Given the description of an element on the screen output the (x, y) to click on. 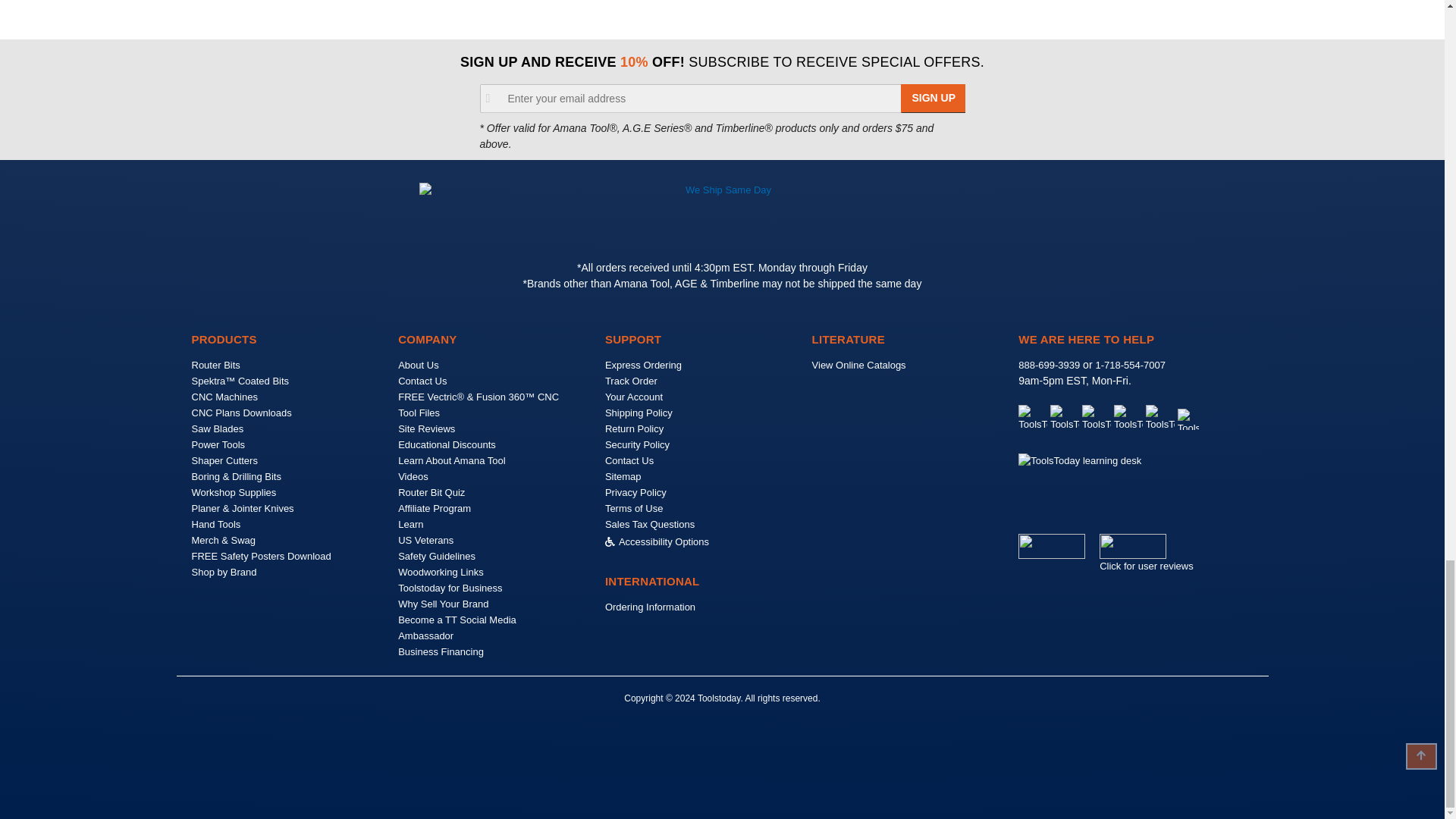
SIGN UP (934, 98)
